Given the description of an element on the screen output the (x, y) to click on. 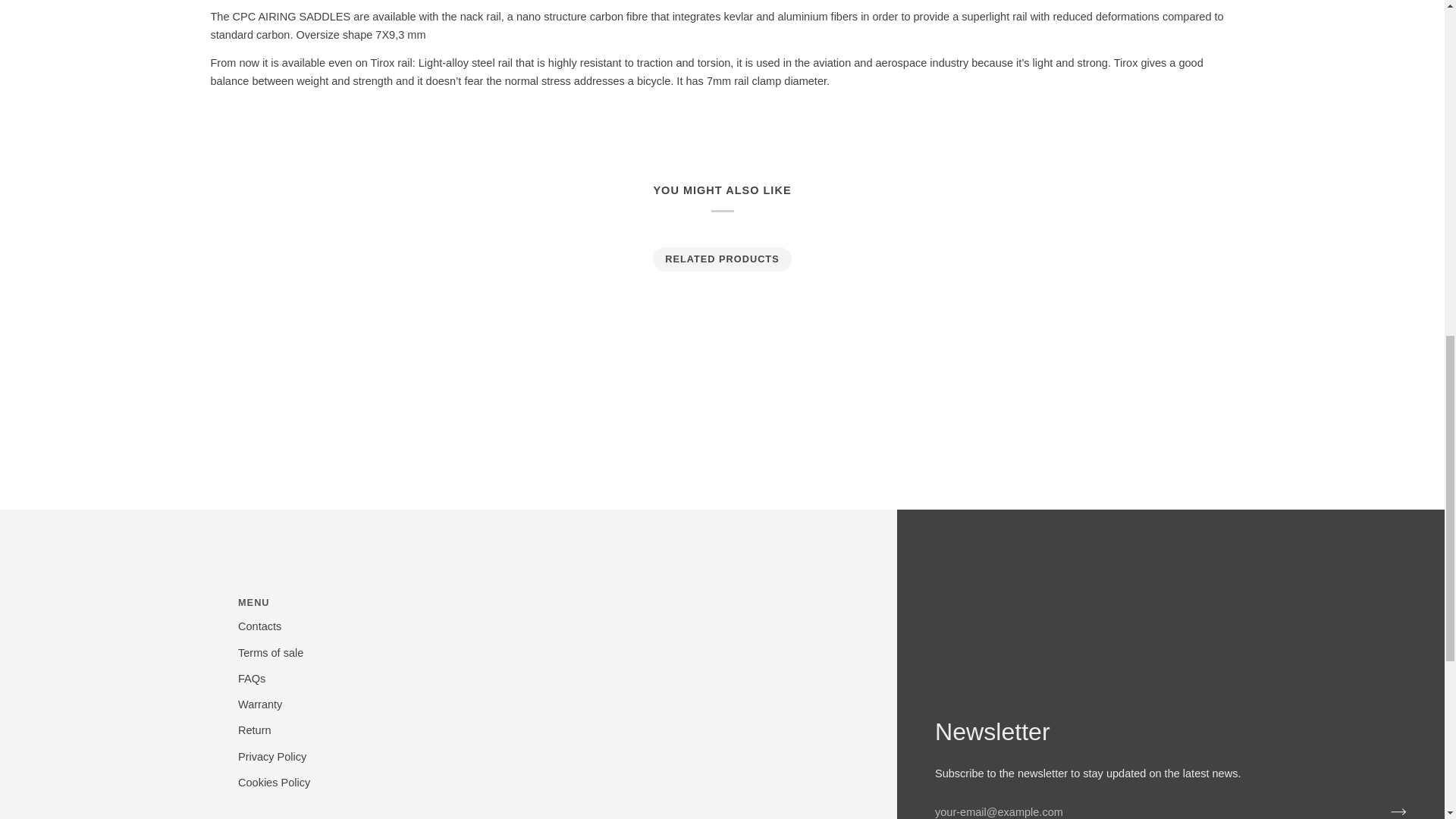
RELATED PRODUCTS (722, 259)
